Given the description of an element on the screen output the (x, y) to click on. 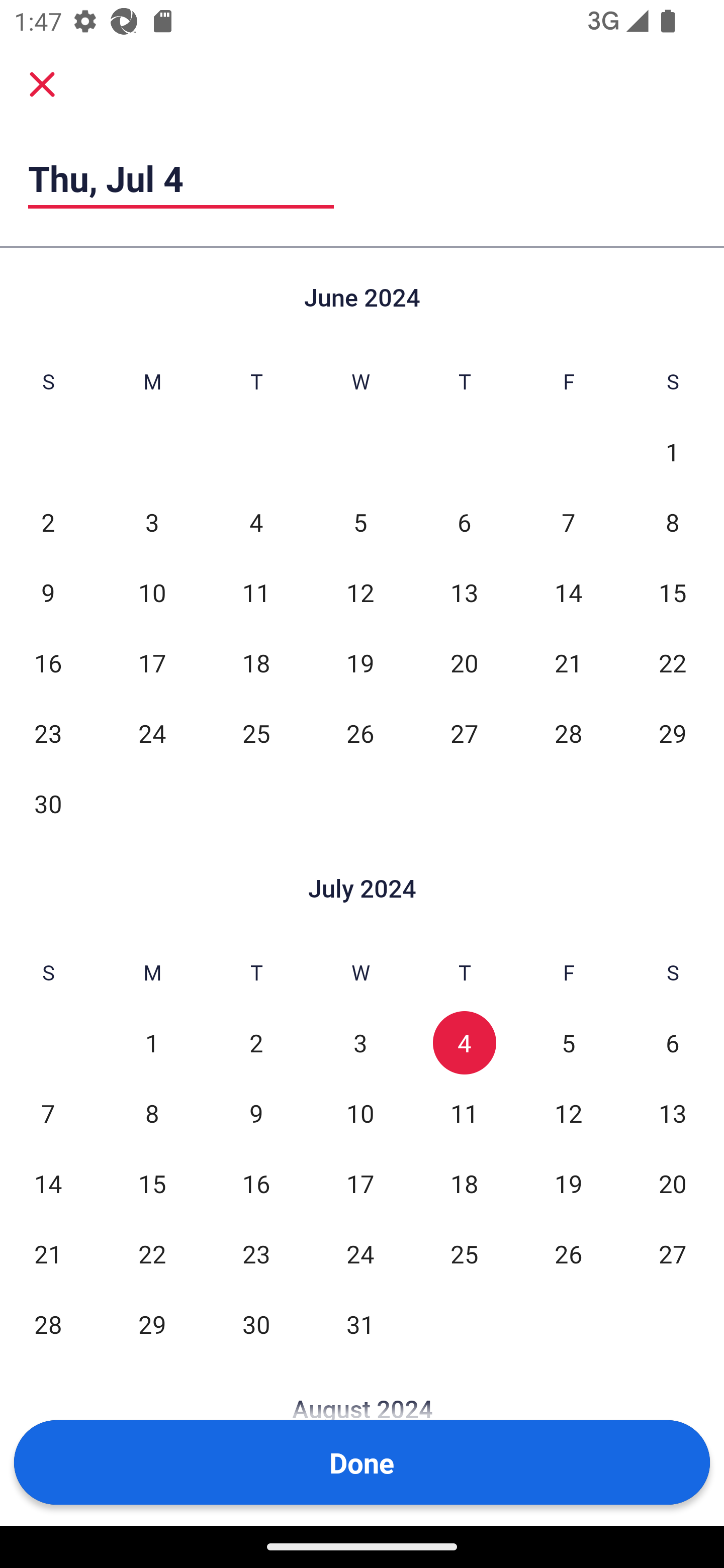
Cancel (42, 84)
Thu, Jul 4 (180, 178)
1 Sat, Jun 1, Not Selected (672, 452)
2 Sun, Jun 2, Not Selected (48, 521)
3 Mon, Jun 3, Not Selected (152, 521)
4 Tue, Jun 4, Not Selected (256, 521)
5 Wed, Jun 5, Not Selected (360, 521)
6 Thu, Jun 6, Not Selected (464, 521)
7 Fri, Jun 7, Not Selected (568, 521)
8 Sat, Jun 8, Not Selected (672, 521)
9 Sun, Jun 9, Not Selected (48, 591)
10 Mon, Jun 10, Not Selected (152, 591)
11 Tue, Jun 11, Not Selected (256, 591)
12 Wed, Jun 12, Not Selected (360, 591)
13 Thu, Jun 13, Not Selected (464, 591)
14 Fri, Jun 14, Not Selected (568, 591)
15 Sat, Jun 15, Not Selected (672, 591)
16 Sun, Jun 16, Not Selected (48, 662)
17 Mon, Jun 17, Not Selected (152, 662)
18 Tue, Jun 18, Not Selected (256, 662)
19 Wed, Jun 19, Not Selected (360, 662)
20 Thu, Jun 20, Not Selected (464, 662)
21 Fri, Jun 21, Not Selected (568, 662)
22 Sat, Jun 22, Not Selected (672, 662)
23 Sun, Jun 23, Not Selected (48, 732)
24 Mon, Jun 24, Not Selected (152, 732)
25 Tue, Jun 25, Not Selected (256, 732)
26 Wed, Jun 26, Not Selected (360, 732)
27 Thu, Jun 27, Not Selected (464, 732)
28 Fri, Jun 28, Not Selected (568, 732)
29 Sat, Jun 29, Not Selected (672, 732)
30 Sun, Jun 30, Not Selected (48, 803)
1 Mon, Jul 1, Not Selected (152, 1043)
2 Tue, Jul 2, Not Selected (256, 1043)
3 Wed, Jul 3, Not Selected (360, 1043)
4 Thu, Jul 4, Selected (464, 1043)
5 Fri, Jul 5, Not Selected (568, 1043)
6 Sat, Jul 6, Not Selected (672, 1043)
7 Sun, Jul 7, Not Selected (48, 1112)
8 Mon, Jul 8, Not Selected (152, 1112)
9 Tue, Jul 9, Not Selected (256, 1112)
10 Wed, Jul 10, Not Selected (360, 1112)
11 Thu, Jul 11, Not Selected (464, 1112)
12 Fri, Jul 12, Not Selected (568, 1112)
13 Sat, Jul 13, Not Selected (672, 1112)
14 Sun, Jul 14, Not Selected (48, 1182)
15 Mon, Jul 15, Not Selected (152, 1182)
16 Tue, Jul 16, Not Selected (256, 1182)
17 Wed, Jul 17, Not Selected (360, 1182)
18 Thu, Jul 18, Not Selected (464, 1182)
19 Fri, Jul 19, Not Selected (568, 1182)
20 Sat, Jul 20, Not Selected (672, 1182)
21 Sun, Jul 21, Not Selected (48, 1253)
22 Mon, Jul 22, Not Selected (152, 1253)
23 Tue, Jul 23, Not Selected (256, 1253)
24 Wed, Jul 24, Not Selected (360, 1253)
25 Thu, Jul 25, Not Selected (464, 1253)
26 Fri, Jul 26, Not Selected (568, 1253)
27 Sat, Jul 27, Not Selected (672, 1253)
28 Sun, Jul 28, Not Selected (48, 1323)
29 Mon, Jul 29, Not Selected (152, 1323)
30 Tue, Jul 30, Not Selected (256, 1323)
31 Wed, Jul 31, Not Selected (360, 1323)
Done Button Done (361, 1462)
